Given the description of an element on the screen output the (x, y) to click on. 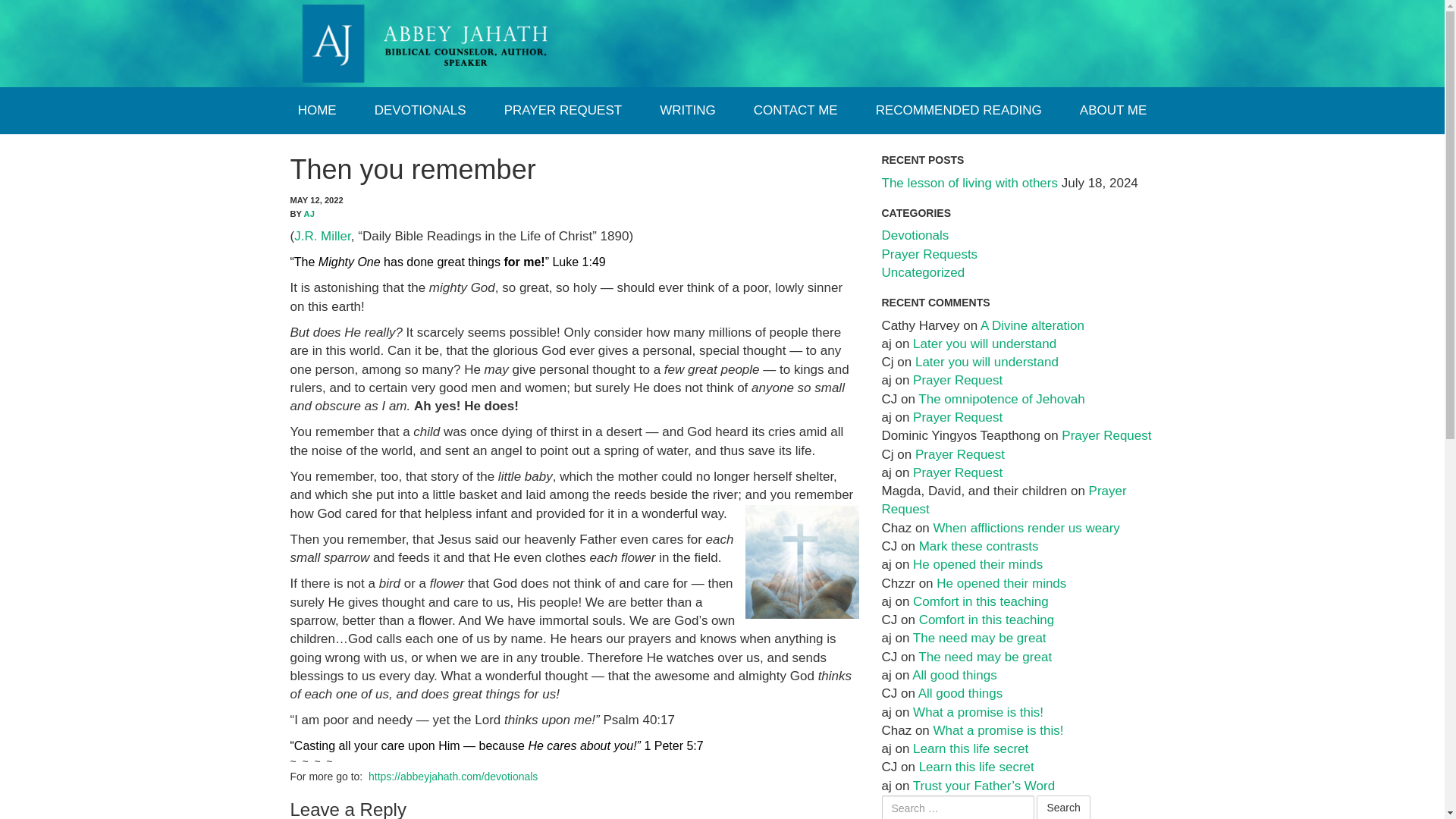
Search (1062, 807)
What a promise is this! (977, 712)
A Divine alteration (1031, 325)
ABOUT ME (1112, 110)
Prayer Request (1002, 500)
The omnipotence of Jehovah (1001, 399)
DEVOTIONALS (419, 110)
Prayer Requests (928, 254)
Uncategorized (921, 272)
All good things (954, 675)
J.R. Miller (322, 236)
When afflictions render us weary (1026, 527)
Comfort in this teaching (986, 619)
The lesson of living with others (968, 183)
Comfort in this teaching (980, 601)
